Given the description of an element on the screen output the (x, y) to click on. 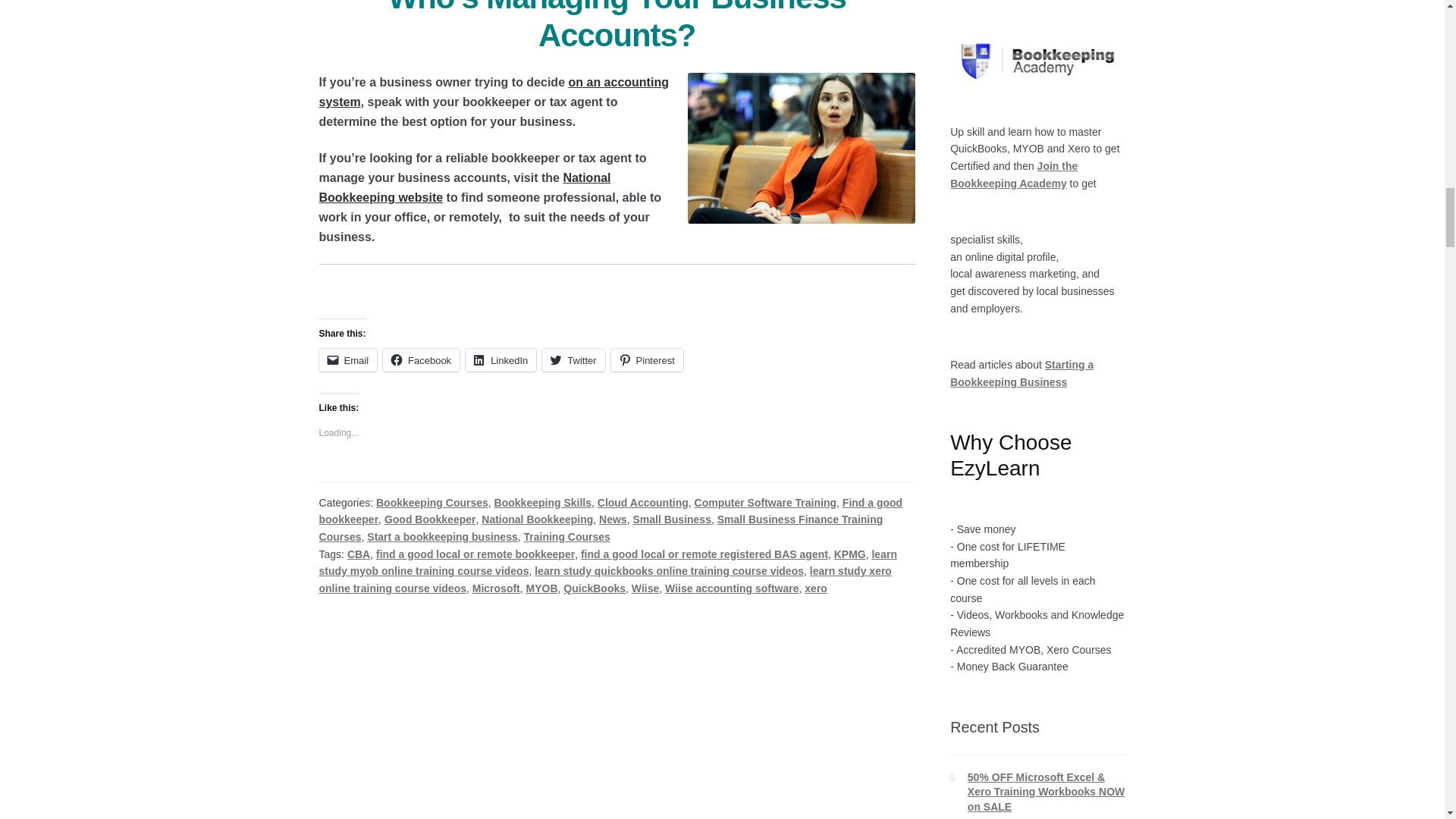
Email (347, 359)
Click to share on Twitter (572, 359)
Twitter (572, 359)
on an accounting system (493, 92)
Facebook (421, 359)
Click to share on Pinterest (646, 359)
National Bookkeeping website (464, 187)
LinkedIn (500, 359)
Click to email a link to a friend (347, 359)
Click to share on LinkedIn (500, 359)
Click to share on Facebook (421, 359)
